Given the description of an element on the screen output the (x, y) to click on. 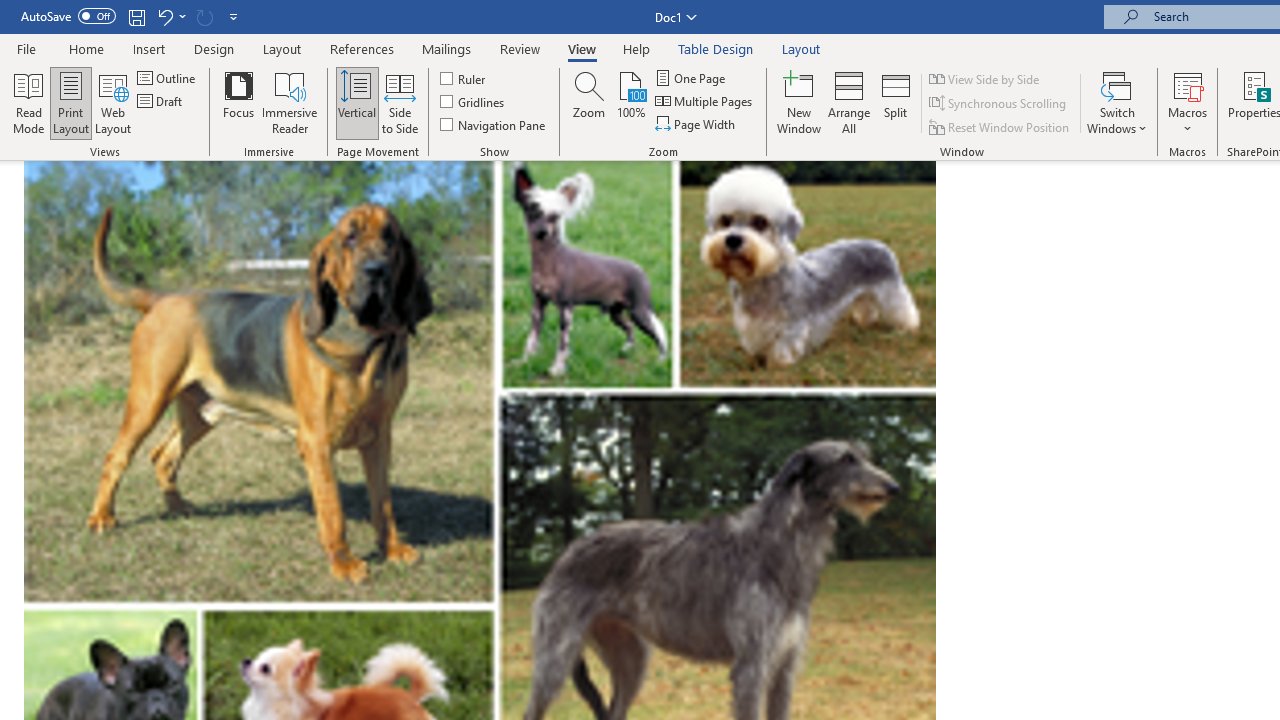
Vertical (356, 102)
Reset Window Position (1000, 126)
New Window (799, 102)
Undo Row Height Spinner (164, 15)
Draft (161, 101)
Navigation Pane (493, 124)
Arrange All (848, 102)
Switch Windows (1117, 102)
